Given the description of an element on the screen output the (x, y) to click on. 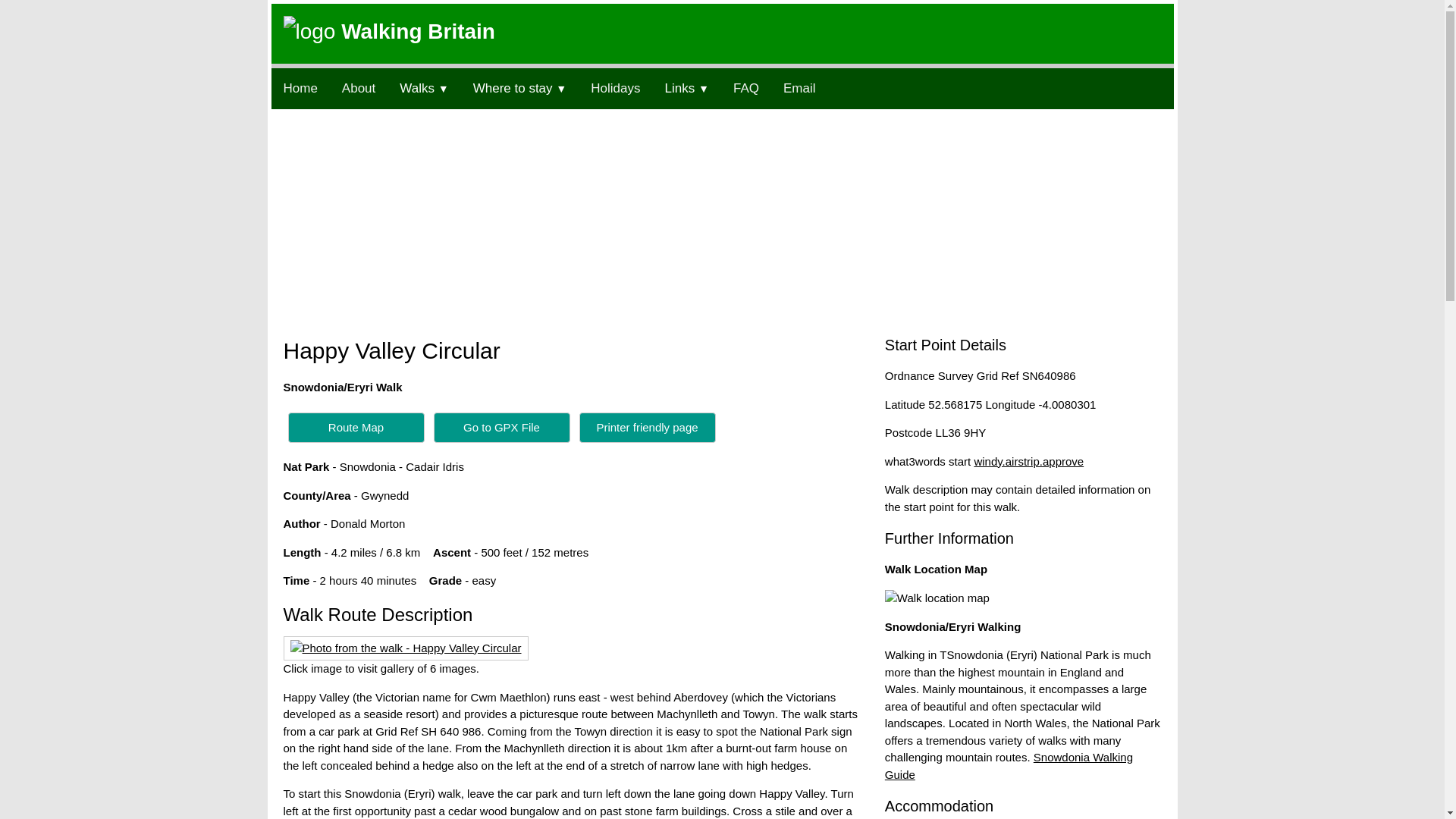
FAQ (745, 87)
Route Map (356, 426)
Route Map (356, 427)
Go to GPX File (501, 427)
Email (799, 87)
About (358, 87)
Holidays (615, 87)
Printer friendly page (647, 427)
Home (300, 87)
Printer friendly page (647, 426)
Go to GPX File (502, 426)
